Given the description of an element on the screen output the (x, y) to click on. 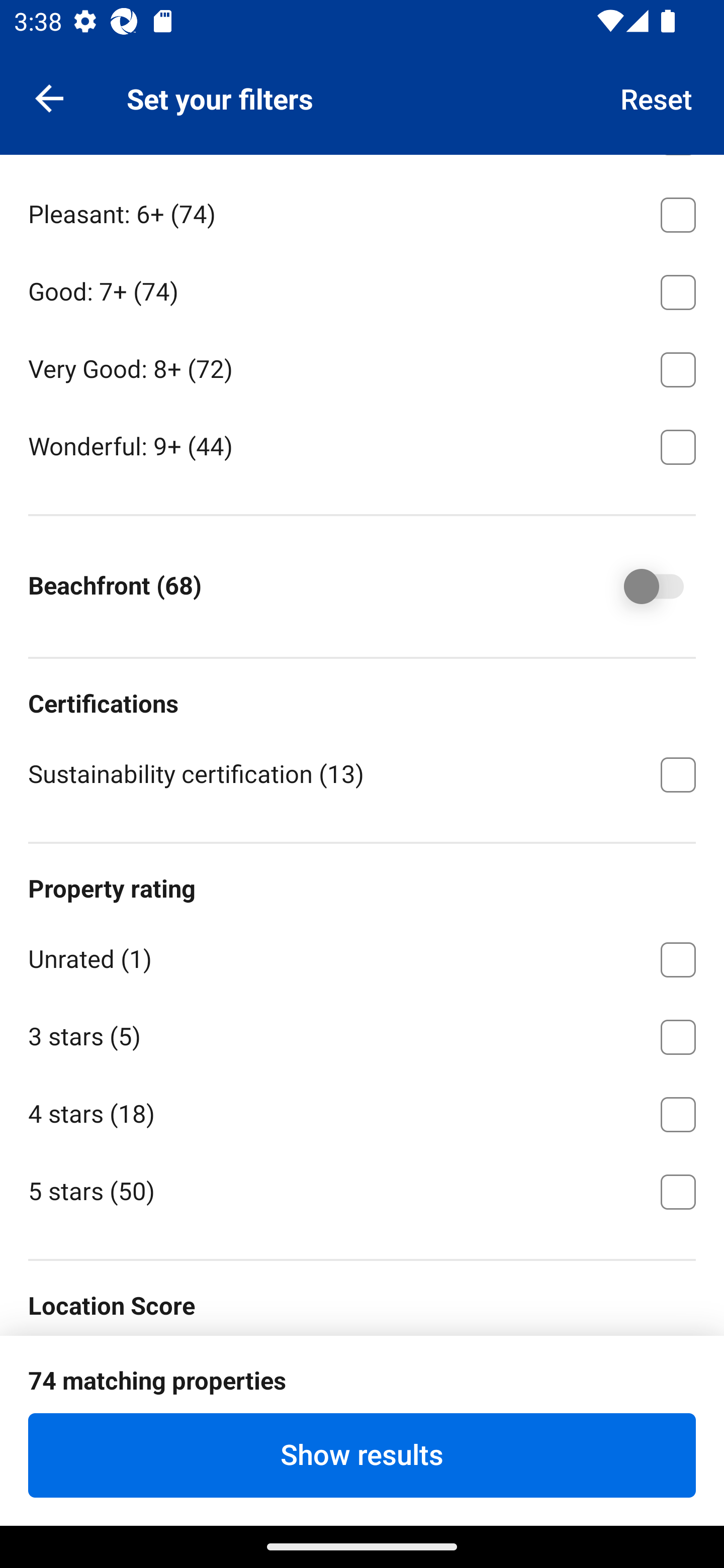
Navigate up (49, 97)
Reset (656, 97)
Pleasant: 6+ ⁦(74) (361, 211)
Good: 7+ ⁦(74) (361, 288)
Very Good: 8+ ⁦(72) (361, 365)
Wonderful: 9+ ⁦(44) (361, 445)
Beachfront ⁦(68) (639, 586)
Sustainability certification ⁦(13) (361, 772)
Unrated ⁦(1) (361, 956)
3 stars ⁦(5) (361, 1033)
4 stars ⁦(18) (361, 1110)
5 stars ⁦(50) (361, 1189)
Pleasant Location: 6+ ⁦(70) (361, 1334)
Show results (361, 1454)
